Given the description of an element on the screen output the (x, y) to click on. 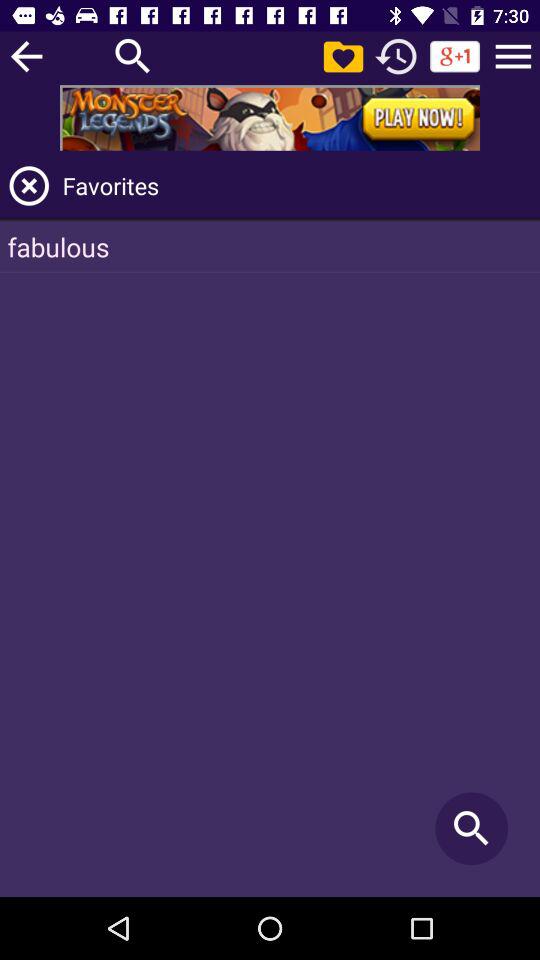
close (29, 185)
